Given the description of an element on the screen output the (x, y) to click on. 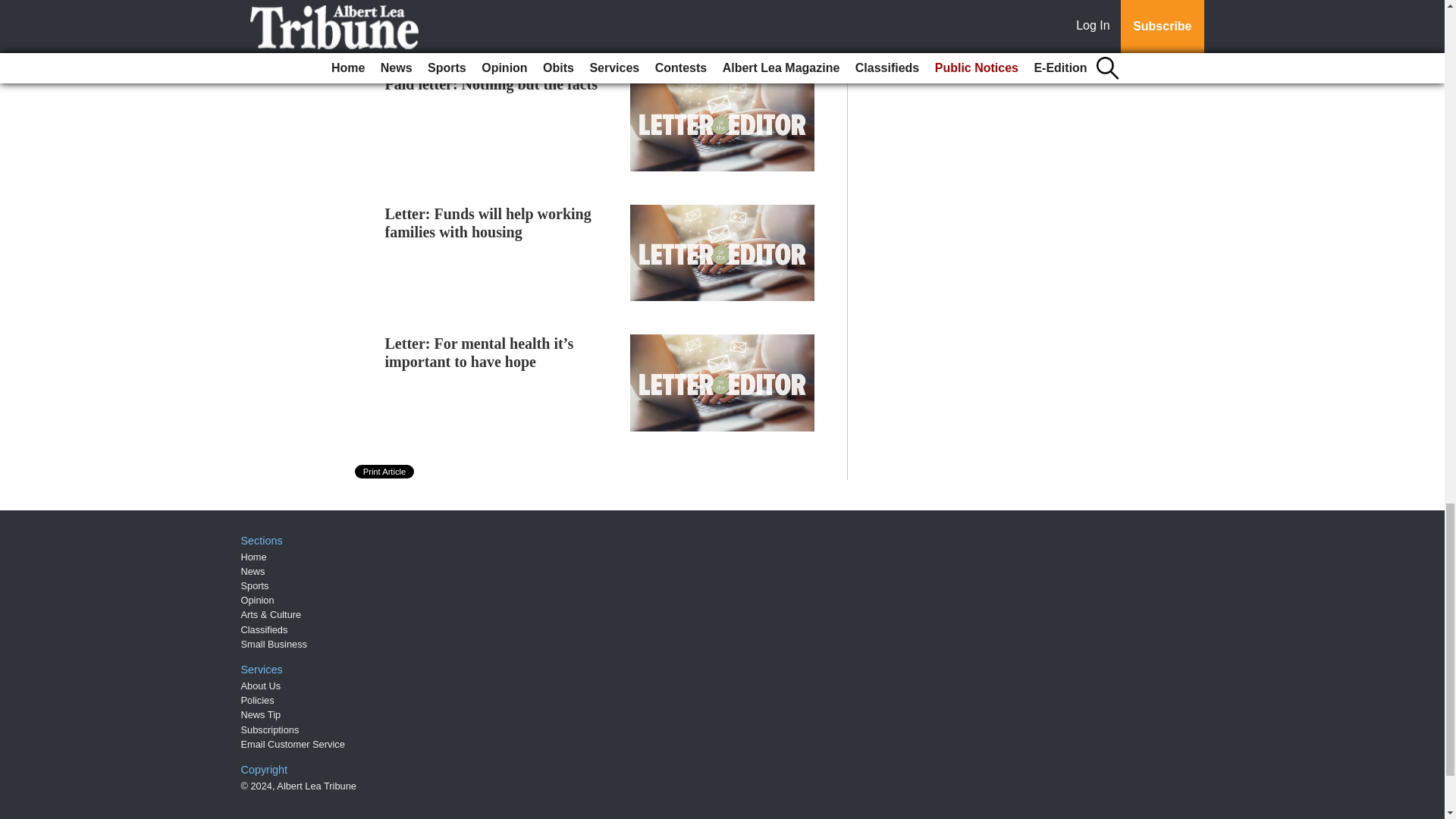
Paid letter: Nothing but the facts (491, 84)
Letter: Funds will help working families with housing (488, 222)
